Given the description of an element on the screen output the (x, y) to click on. 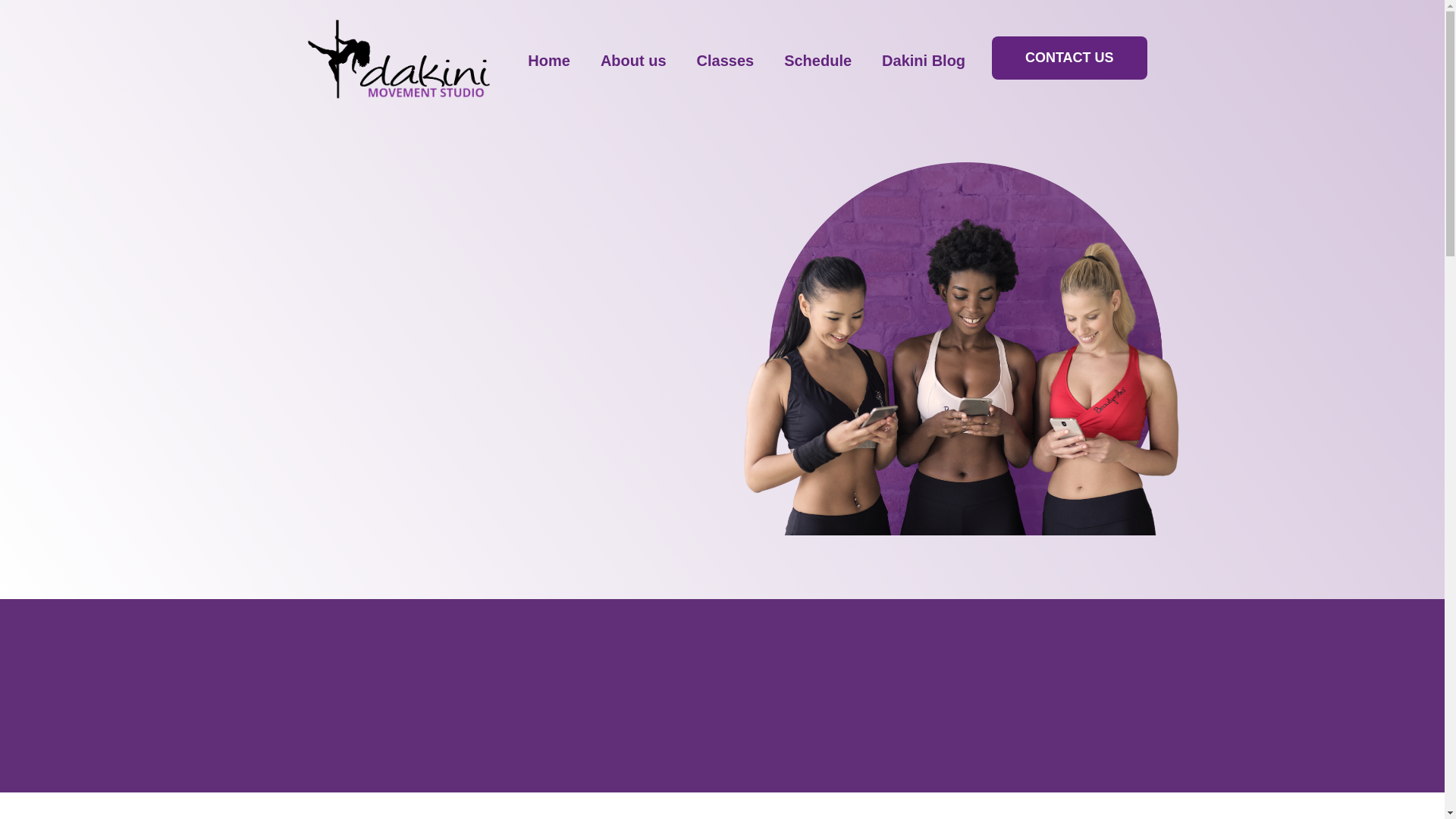
Home (548, 60)
CONTACT US (1069, 57)
Classes (725, 60)
About us (633, 60)
Schedule (818, 60)
Dakini Blog (923, 60)
